Given the description of an element on the screen output the (x, y) to click on. 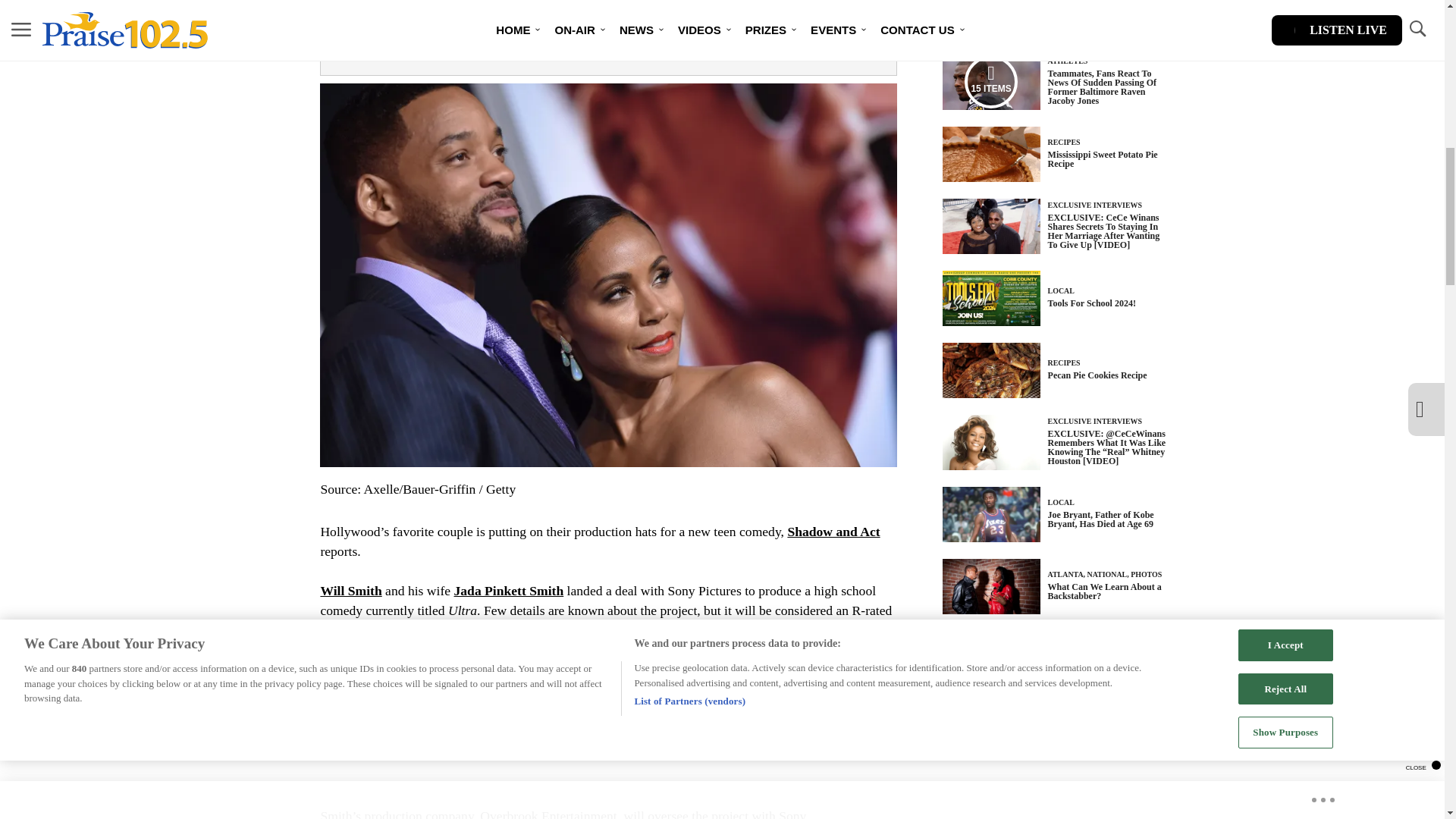
Media Playlist (990, 81)
